Given the description of an element on the screen output the (x, y) to click on. 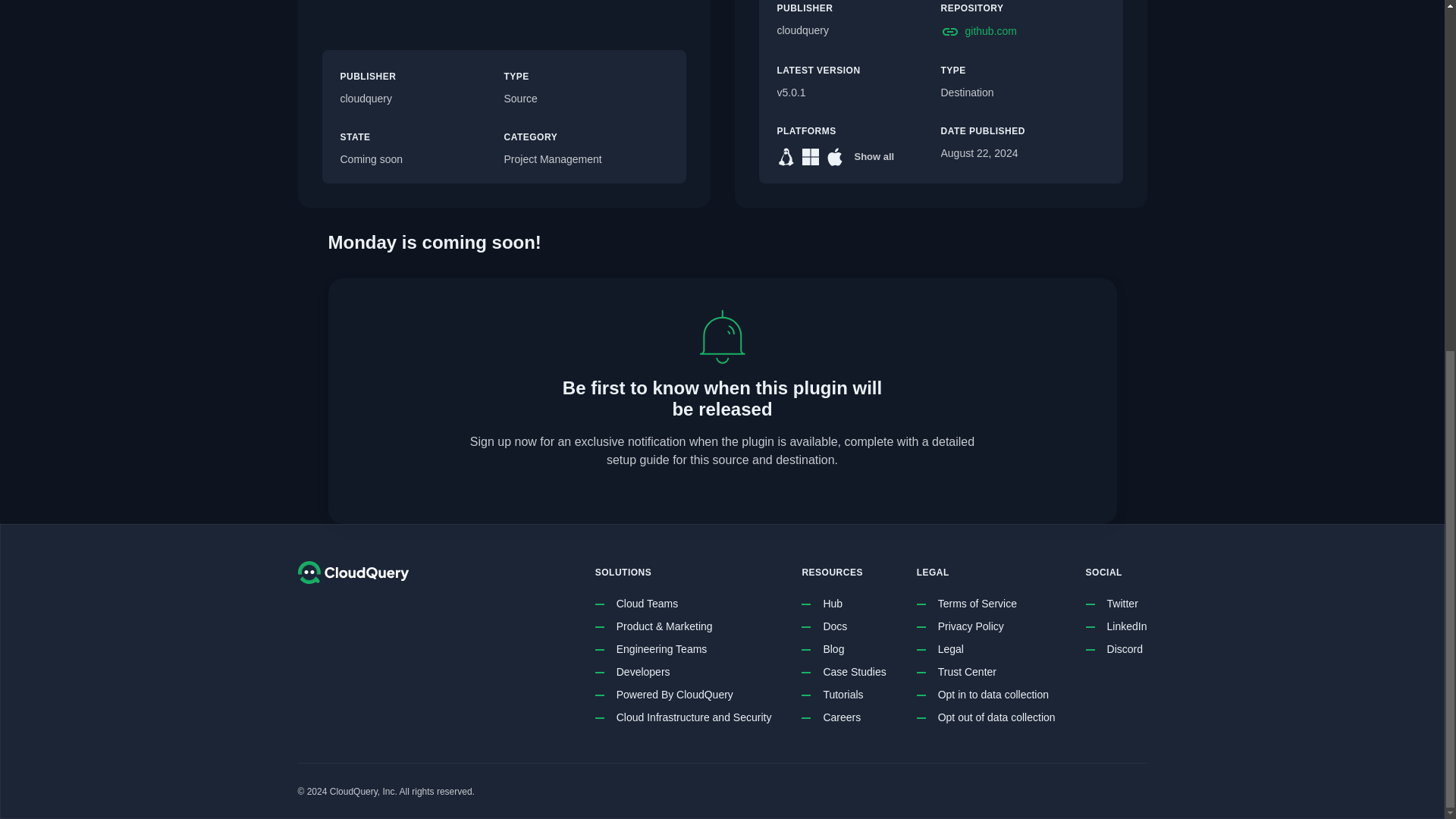
Docs (834, 627)
Hub (832, 604)
Opt out of data collection (996, 718)
Case Studies (853, 672)
Reject (1047, 237)
Trust Center (966, 672)
Coming soon (421, 159)
All supported platforms (873, 156)
Destination (1021, 93)
Opt in to data collection (992, 695)
